Given the description of an element on the screen output the (x, y) to click on. 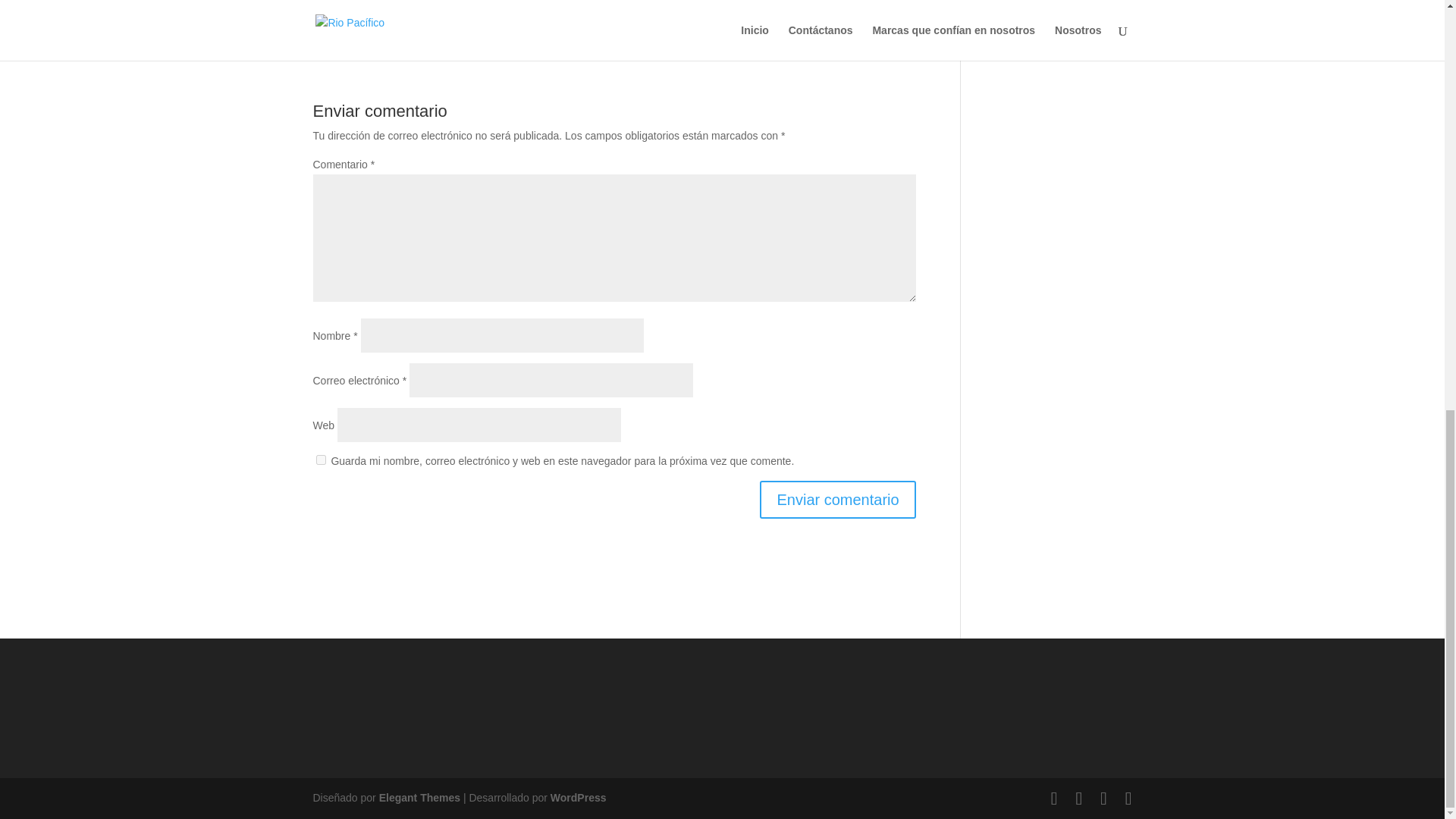
Premium WordPress Themes (419, 797)
yes (319, 460)
Elegant Themes (419, 797)
Enviar comentario (837, 499)
WordPress (578, 797)
Enviar comentario (837, 499)
